Given the description of an element on the screen output the (x, y) to click on. 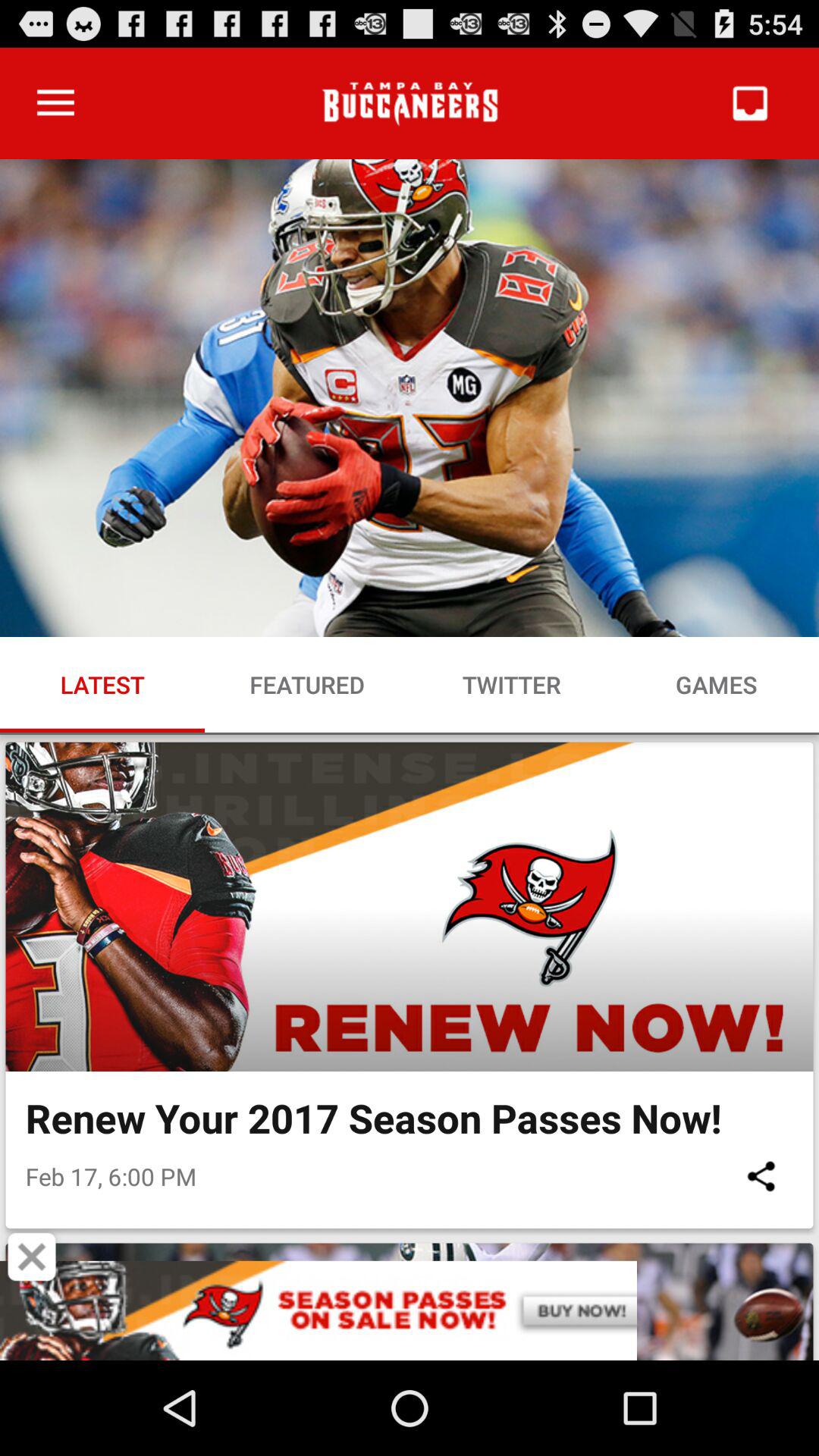
press the icon below the feb 17 6 icon (31, 1256)
